Given the description of an element on the screen output the (x, y) to click on. 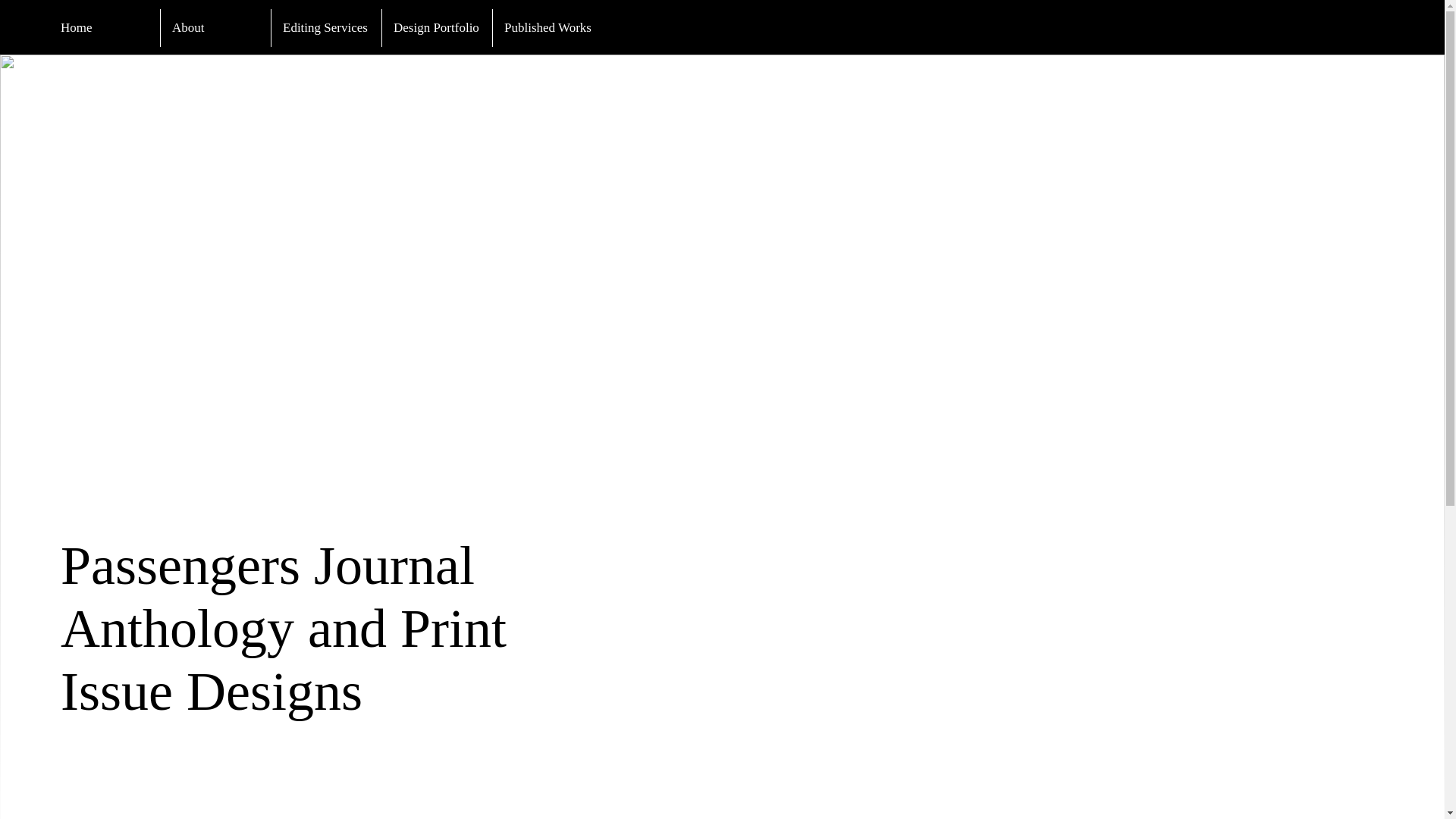
Home (104, 27)
Design Portfolio (436, 27)
Published Works (547, 27)
Editing Services (325, 27)
About (215, 27)
